Given the description of an element on the screen output the (x, y) to click on. 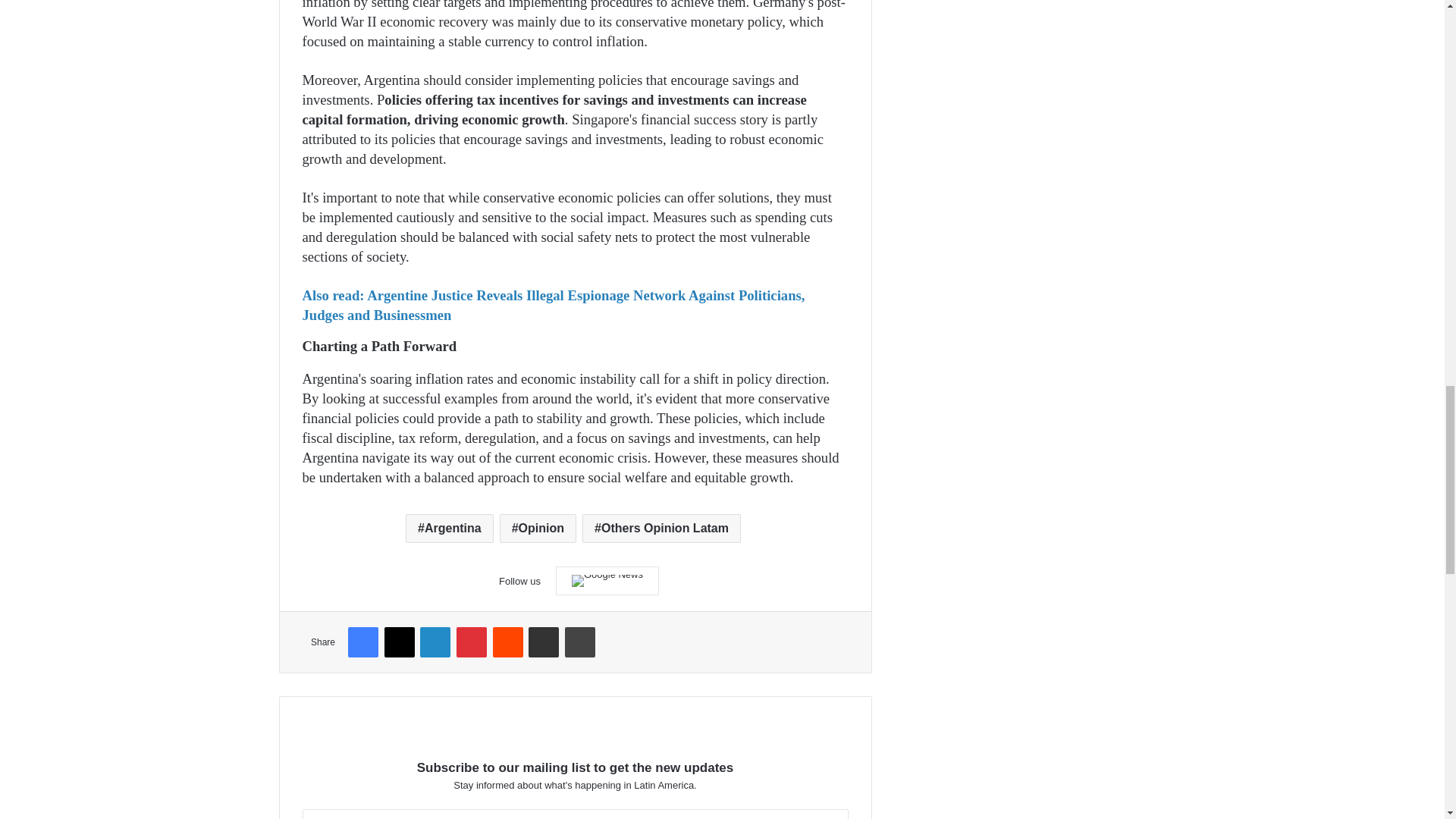
Pinterest (471, 642)
Google News (607, 580)
Facebook (362, 642)
LinkedIn (434, 642)
X (399, 642)
